Given the description of an element on the screen output the (x, y) to click on. 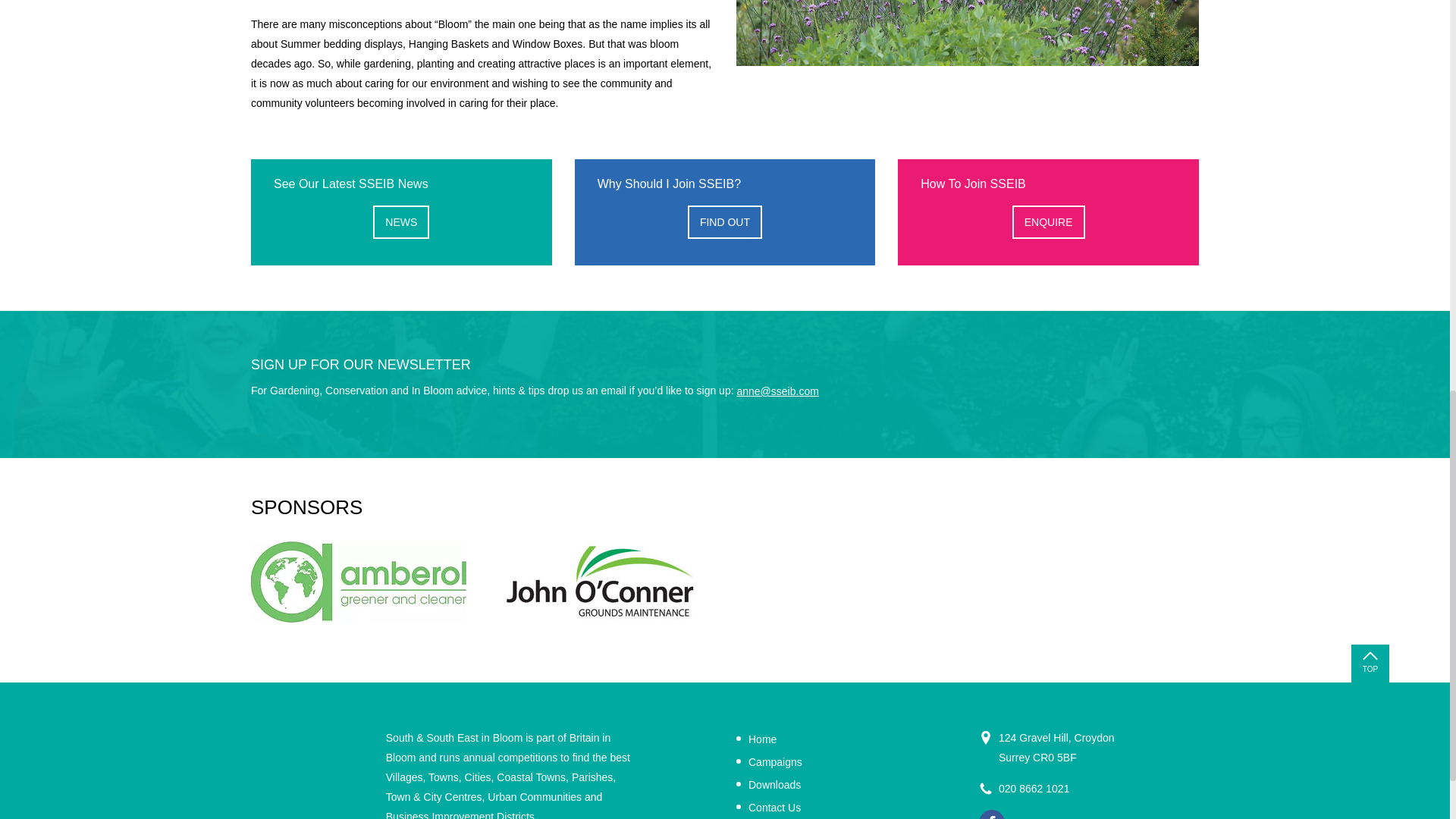
Contact Us (768, 807)
TOP (1370, 663)
Amberol Greener and Cleaner (357, 582)
Home (756, 739)
John O'Conner Grounds Maintenance (601, 582)
ENQUIRE (1047, 222)
Campaigns (769, 762)
NEWS (400, 222)
Downloads (768, 784)
FIND OUT (724, 222)
